Given the description of an element on the screen output the (x, y) to click on. 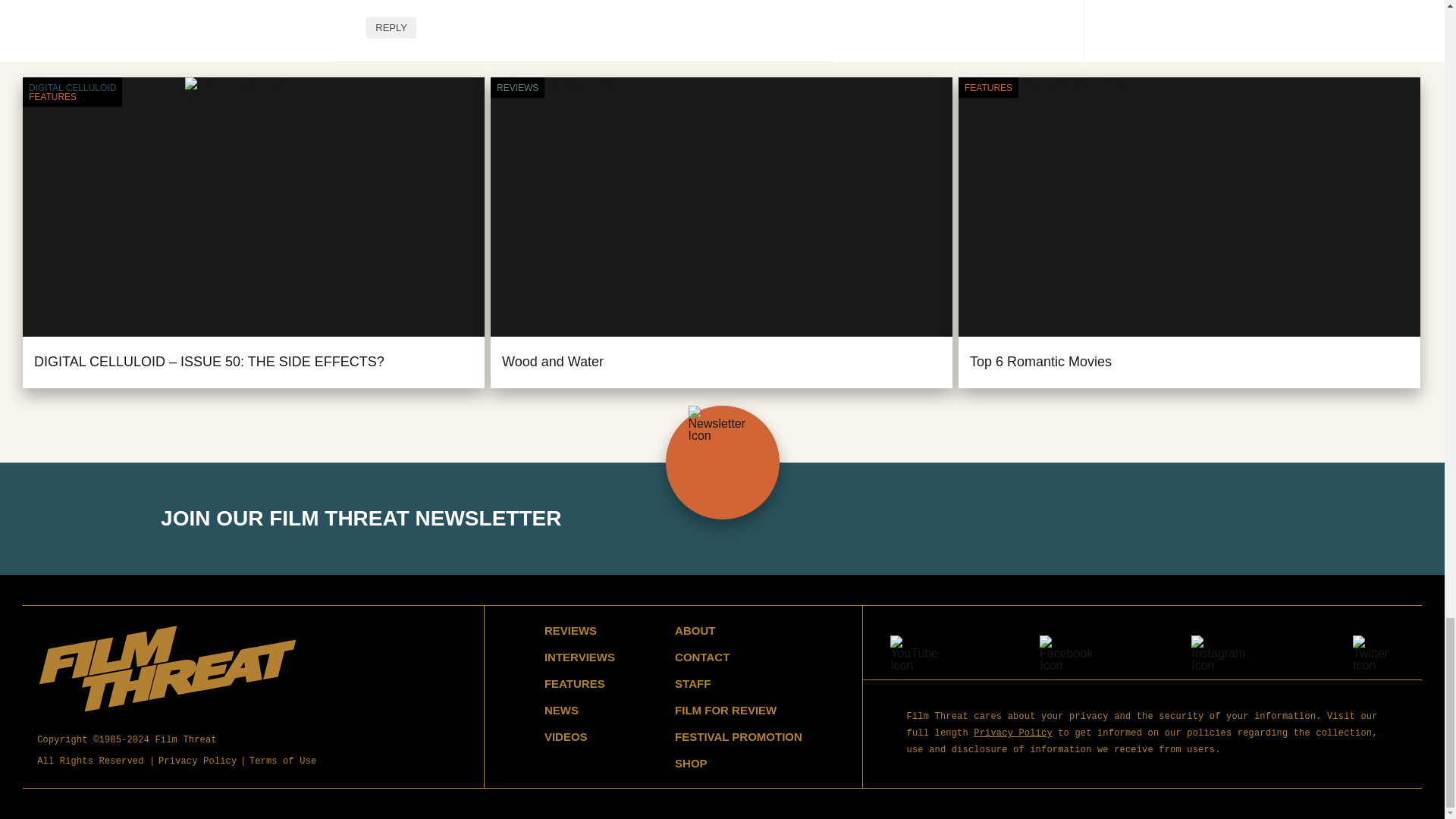
Digital Celluloid (72, 87)
Reviews (517, 87)
REPLY (391, 27)
DIGITAL CELLULOID (72, 87)
Features (72, 96)
FEATURES (72, 96)
Features (987, 87)
